Given the description of an element on the screen output the (x, y) to click on. 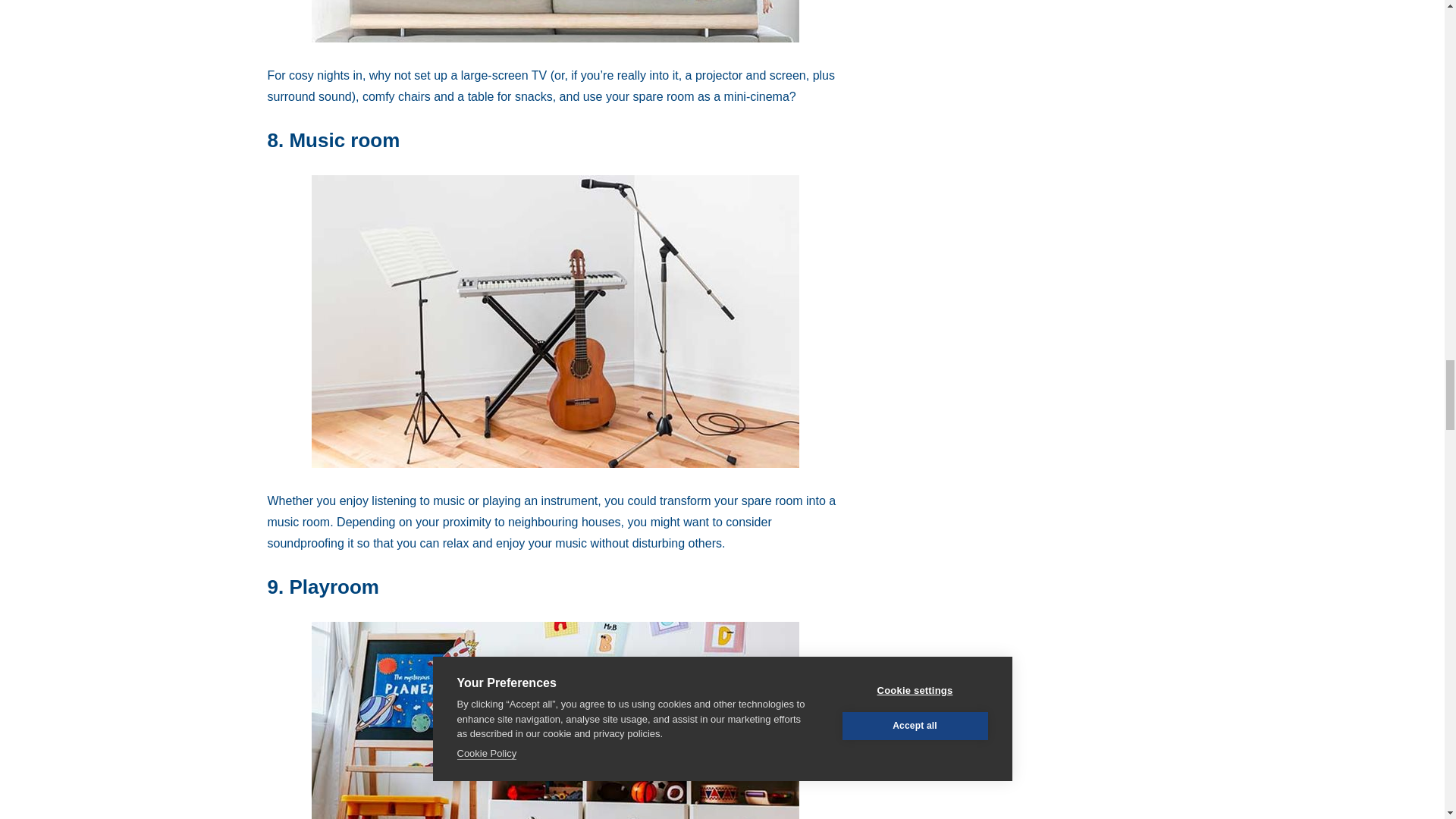
iStock-1129133581.jpg (555, 720)
iStock-476118709.jpg (555, 21)
